Given the description of an element on the screen output the (x, y) to click on. 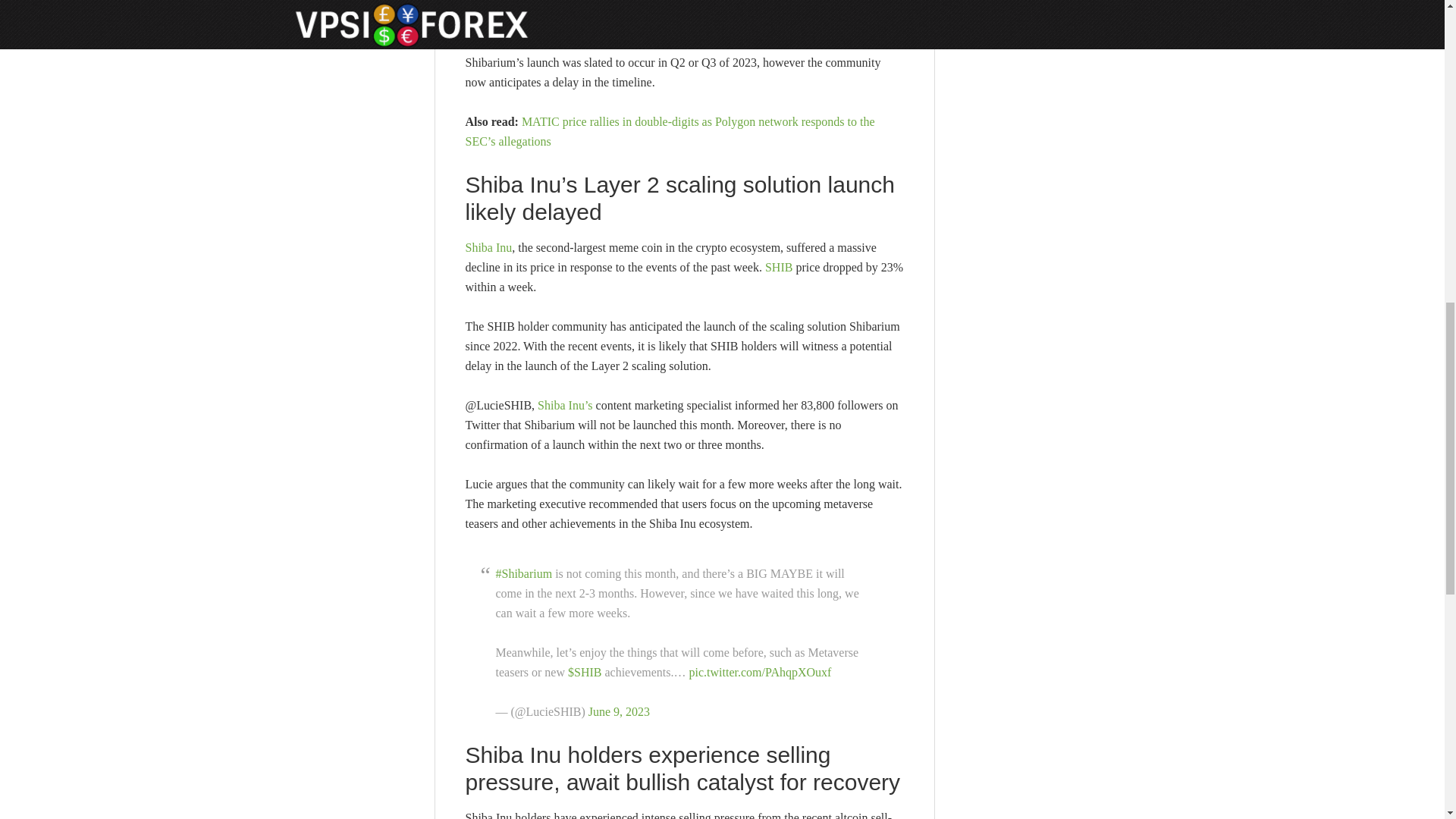
June 9, 2023 (618, 711)
SHIB (778, 267)
Shiba Inu (488, 246)
